Given the description of an element on the screen output the (x, y) to click on. 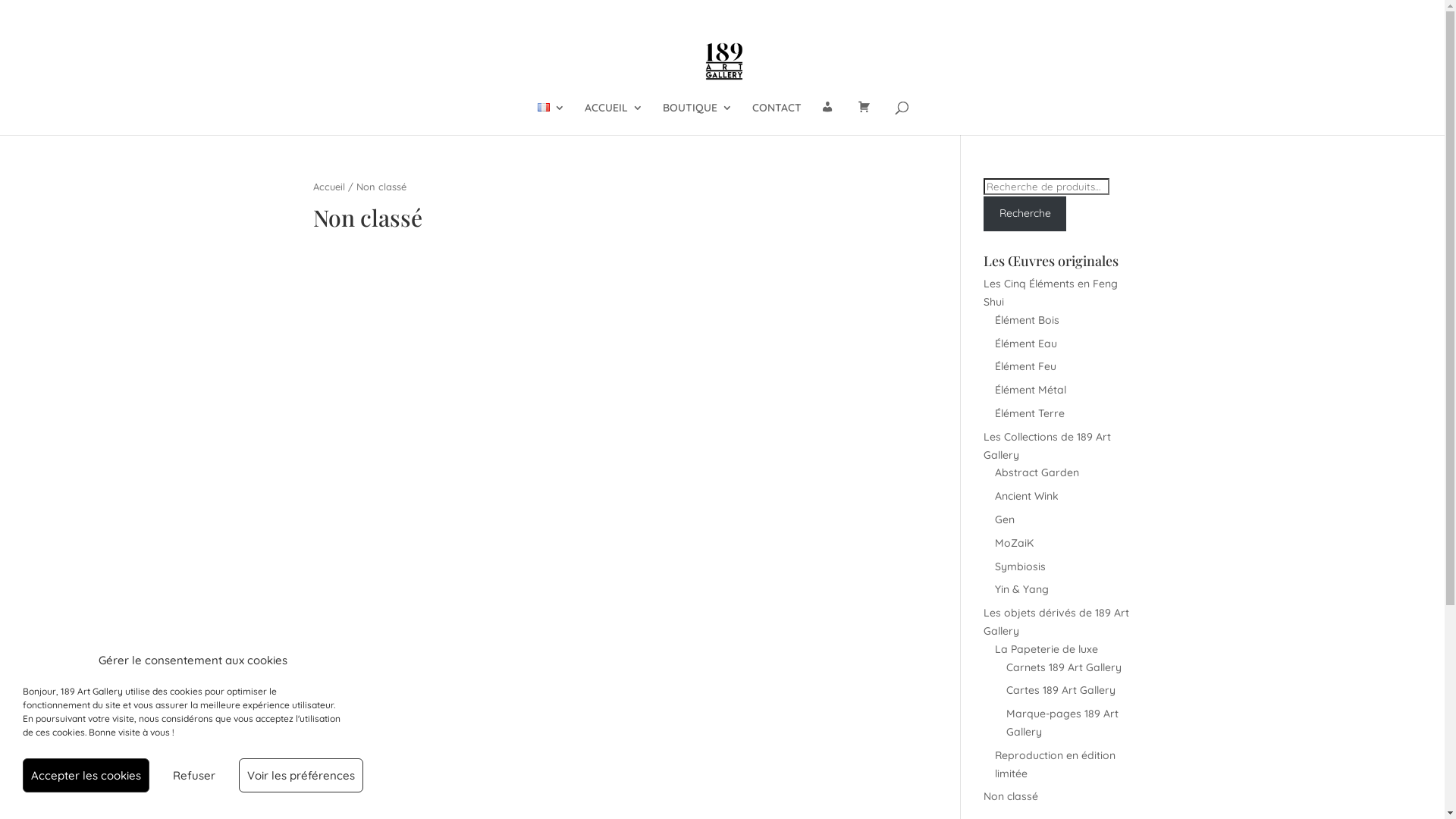
Articles 0 Element type: text (1103, 11)
Carnets 189 Art Gallery Element type: text (1063, 667)
CONTACT Element type: text (776, 118)
Cartes 189 Art Gallery Element type: text (1060, 689)
Refuser Element type: text (193, 775)
BOUTIQUE Element type: text (697, 118)
Gen Element type: text (1004, 519)
contact@189artgallery.com Element type: text (378, 11)
MoZaiK Element type: text (1013, 542)
Symbiosis Element type: text (1019, 566)
ACCUEIL Element type: text (613, 118)
Recherche Element type: text (1024, 213)
Marque-pages 189 Art Gallery Element type: text (1062, 722)
Accueil Element type: text (328, 186)
Les Collections de 189 Art Gallery Element type: text (1046, 445)
Abstract Garden Element type: text (1036, 472)
Yin & Yang Element type: text (1021, 589)
Ancient Wink Element type: text (1026, 495)
Accepter les cookies Element type: text (85, 775)
La Papeterie de luxe Element type: text (1046, 648)
